Given the description of an element on the screen output the (x, y) to click on. 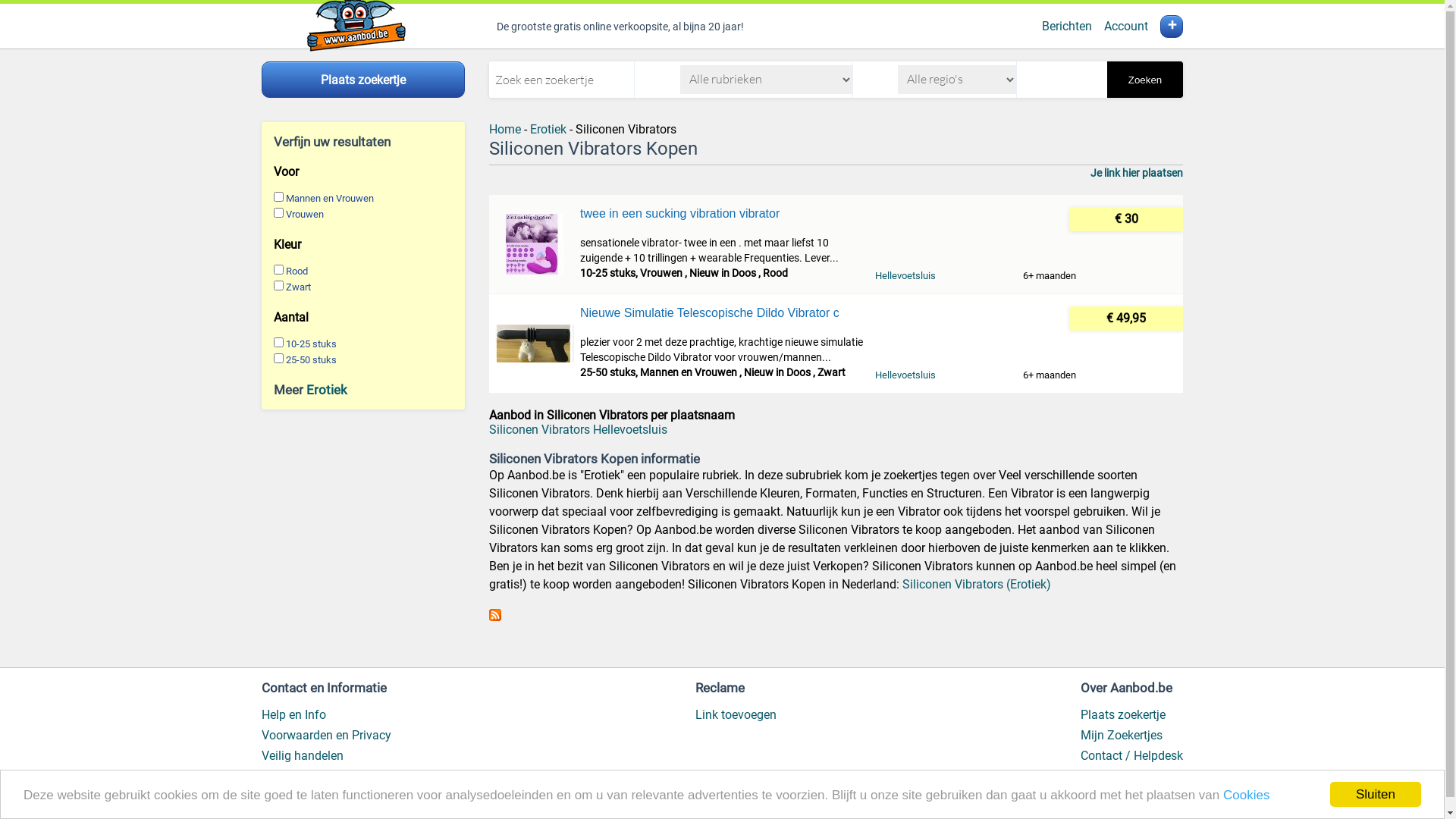
Nieuw geplaatst Element type: text (1123, 775)
RSS - Siliconen Vibrators Element type: hover (495, 616)
on Element type: text (278, 196)
Veilig handelen Element type: text (302, 755)
Cookiebeleid Element type: text (295, 775)
Plaats zoekertje Element type: text (1122, 714)
+ Element type: text (1171, 26)
on Element type: text (278, 358)
Nieuwe Simulatie Telescopische Dildo Vibrator c Element type: text (721, 312)
Berichten Element type: text (1066, 25)
Je link hier plaatsen Element type: text (1136, 172)
on Element type: text (278, 269)
Voorwaarden en Privacy Element type: text (326, 735)
Mijn Zoekertjes Element type: text (1121, 735)
Contact / Helpdesk Element type: text (1131, 755)
Plaats zoekertje Element type: text (362, 79)
Hellevoetsluis Element type: text (905, 275)
on Element type: text (278, 285)
Erotiek Element type: text (326, 389)
Cookies Element type: text (1246, 794)
Siliconen Vibrators (Erotiek) Element type: text (976, 584)
on Element type: text (278, 342)
Home Element type: text (504, 129)
Hellevoetsluis Element type: text (905, 374)
Link toevoegen Element type: text (735, 714)
Zoeken Element type: text (1145, 79)
Siliconen Vibrators Hellevoetsluis Element type: text (578, 429)
Sluiten Element type: text (1375, 793)
vi@net Element type: text (362, 810)
twee in een sucking vibration vibrator Element type: text (721, 213)
on Element type: text (278, 212)
Account Element type: text (1126, 25)
Help en Info Element type: text (293, 714)
Erotiek Element type: text (548, 129)
